Given the description of an element on the screen output the (x, y) to click on. 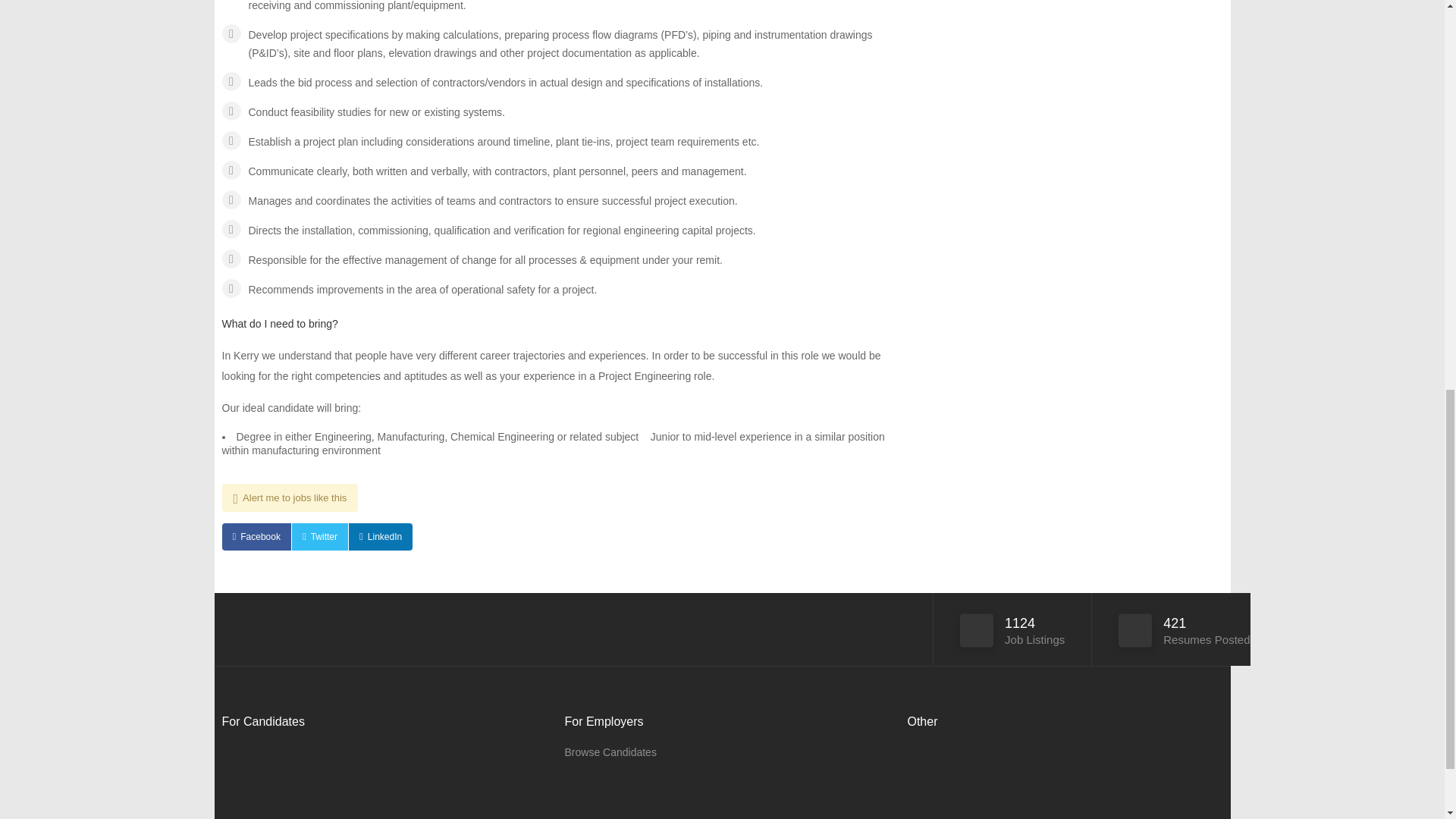
Alert me to jobs like this (289, 497)
Twitter (319, 536)
Twitter (319, 536)
LinkedIn (380, 536)
Browse Candidates (610, 752)
Facebook (255, 536)
